Given the description of an element on the screen output the (x, y) to click on. 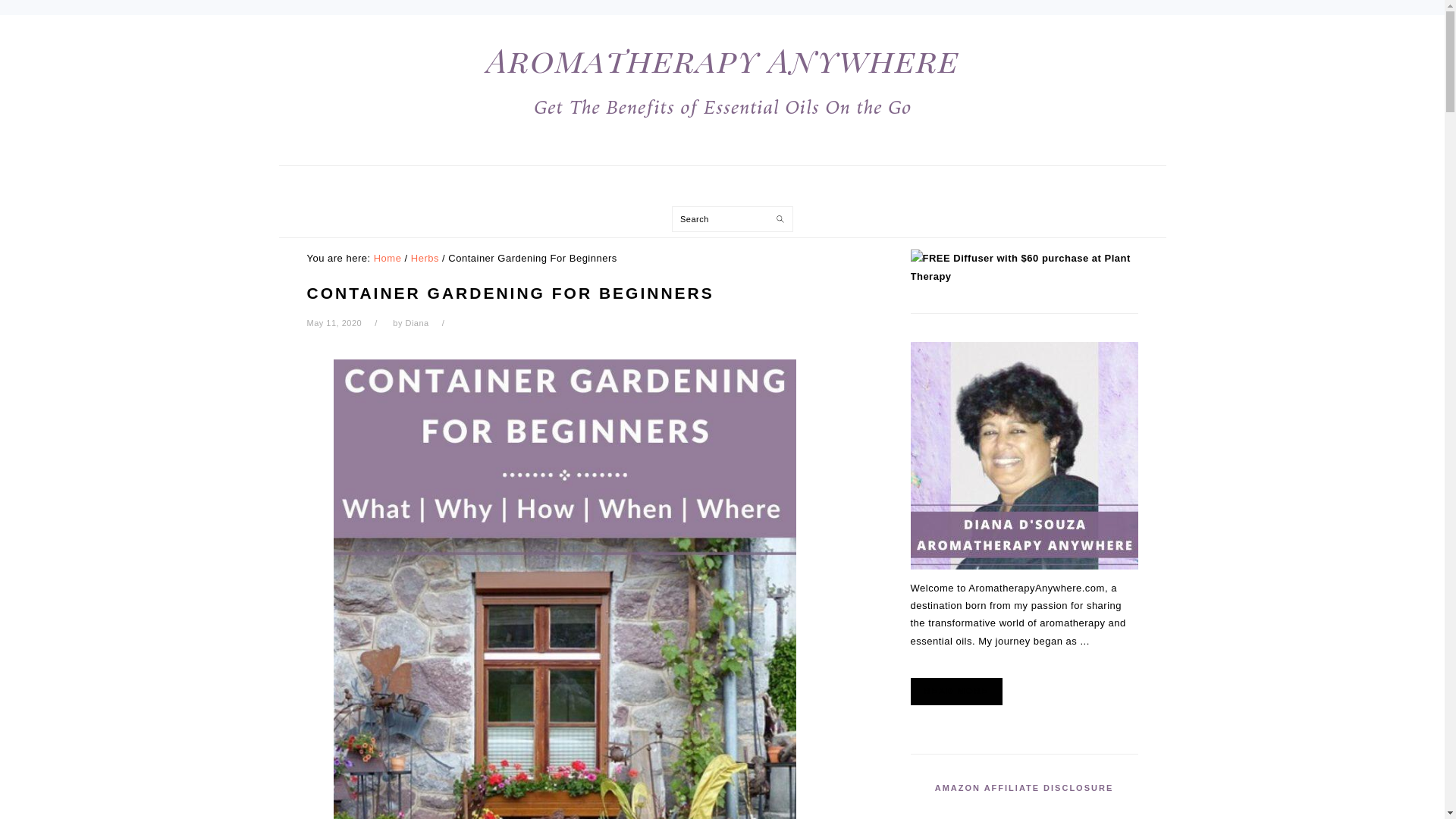
Herbs (424, 257)
Aromatherapy Anywhere (721, 81)
CARRIER OILS (780, 188)
ESSENTIAL OIL USES (514, 188)
READ MORE (955, 691)
Diana (416, 322)
Home (387, 257)
WELLNESS (1065, 188)
DIFFUSER GUIDE (655, 188)
